Given the description of an element on the screen output the (x, y) to click on. 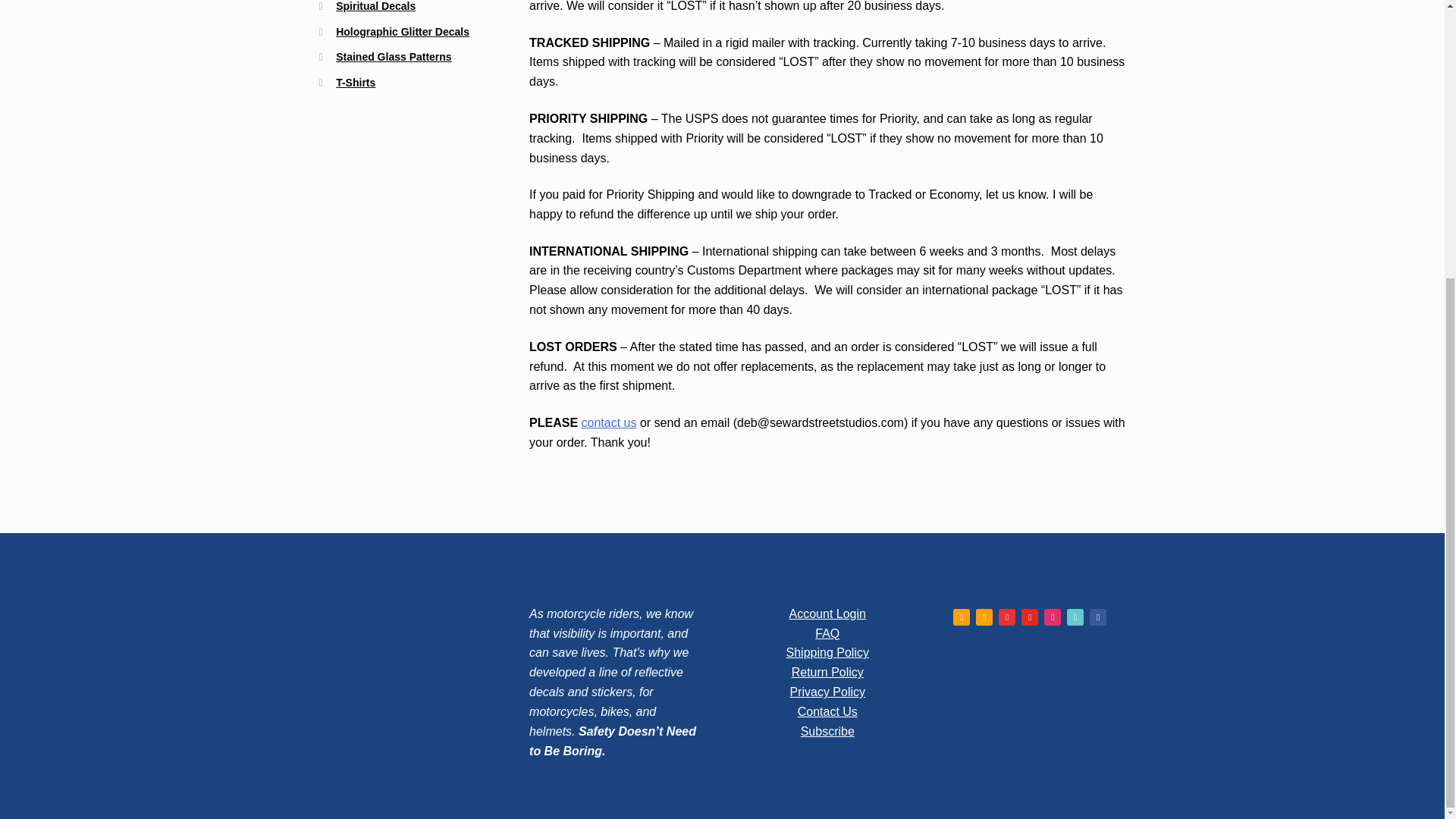
Facebook (961, 616)
Twitter (983, 616)
Default Label (1052, 616)
Default Label (1030, 616)
Default Label (1097, 616)
Instagram (1006, 616)
